Given the description of an element on the screen output the (x, y) to click on. 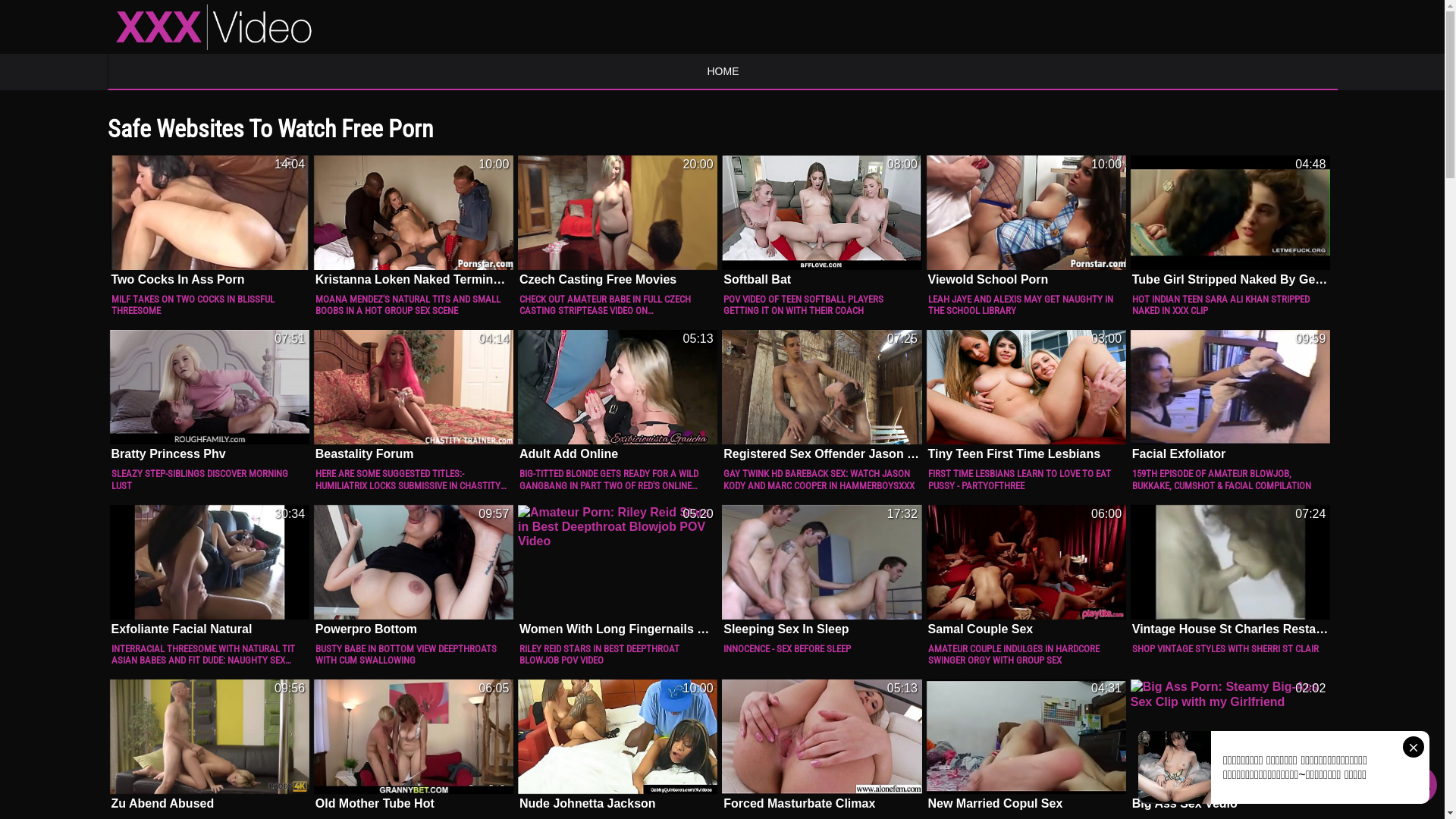
10:00
Viewold School Porn Element type: text (1025, 220)
05:20
Women With Long Fingernails Porno Element type: text (617, 569)
20:00
Czech Casting Free Movies Element type: text (617, 220)
30:34
Exfoliante Facial Natural Element type: text (209, 569)
MILF TAKES ON TWO COCKS IN BLISSFUL THREESOME Element type: text (209, 304)
LEAH JAYE AND ALEXIS MAY GET NAUGHTY IN THE SCHOOL LIBRARY Element type: text (1025, 304)
07:51
Bratty Princess Phv Element type: text (209, 394)
INNOCENCE - SEX BEFORE SLEEP Element type: text (821, 648)
Go back to the top of this page Element type: hover (1418, 784)
RILEY REID STARS IN BEST DEEPTHROAT BLOWJOB POV VIDEO Element type: text (617, 654)
17:32
Sleeping Sex In Sleep Element type: text (821, 569)
02:02
Big Ass Sex Vedio Element type: text (1230, 744)
14:04
Two Cocks In Ass Porn Element type: text (209, 220)
HOME Element type: text (721, 70)
06:00
Samal Couple Sex Element type: text (1025, 569)
BUSTY BABE IN BOTTOM VIEW DEEPTHROATS WITH CUM SWALLOWING Element type: text (413, 654)
06:05
Old Mother Tube Hot Element type: text (413, 744)
SLEAZY STEP-SIBLINGS DISCOVER MORNING LUST Element type: text (209, 479)
09:59
Facial Exfoliator Element type: text (1230, 394)
10:00
Nude Johnetta Jackson Element type: text (617, 744)
07:25
Registered Sex Offender Jason Swilling Element type: text (821, 394)
HOT INDIAN TEEN SARA ALI KHAN STRIPPED NAKED IN XXX CLIP Element type: text (1230, 304)
04:48
Tube Girl Stripped Naked By Geeks Element type: text (1230, 220)
09:57
Powerpro Bottom Element type: text (413, 569)
10:00
Kristanna Loken Naked Terminator Element type: text (413, 220)
05:13
Forced Masturbate Climax Element type: text (821, 744)
07:24
Vintage House St Charles Restaurant Element type: text (1230, 569)
08:00
Softball Bat Element type: text (821, 220)
SHOP VINTAGE STYLES WITH SHERRI ST CLAIR Element type: text (1230, 648)
05:13
Adult Add Online Element type: text (617, 394)
XXX Video Element type: hover (213, 26)
04:14
Beastality Forum Element type: text (413, 394)
03:00
Tiny Teen First Time Lesbians Element type: text (1025, 394)
09:56
Zu Abend Abused Element type: text (209, 744)
04:31
New Married Copul Sex Element type: text (1025, 744)
